Given the description of an element on the screen output the (x, y) to click on. 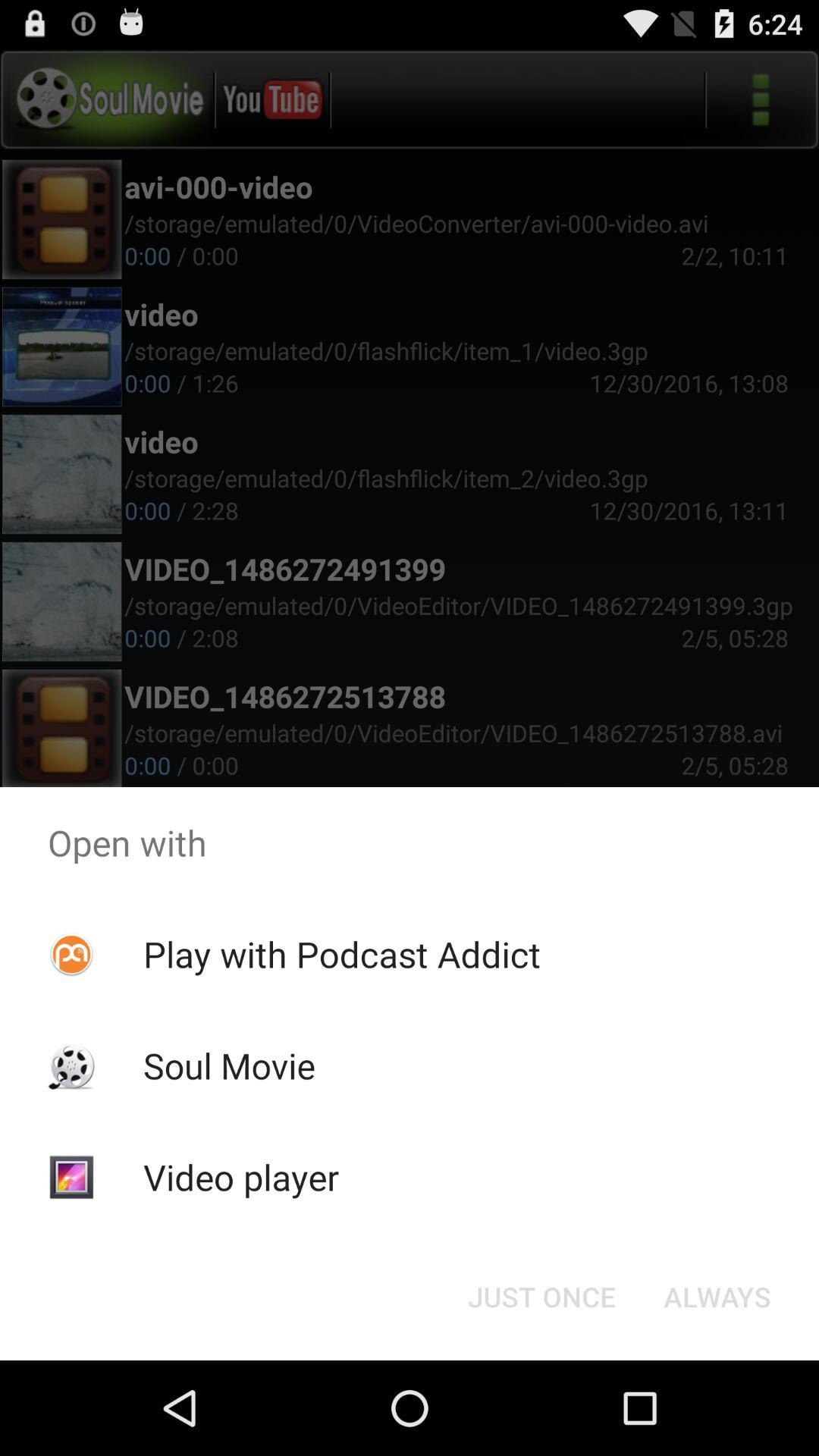
click always item (717, 1296)
